Given the description of an element on the screen output the (x, y) to click on. 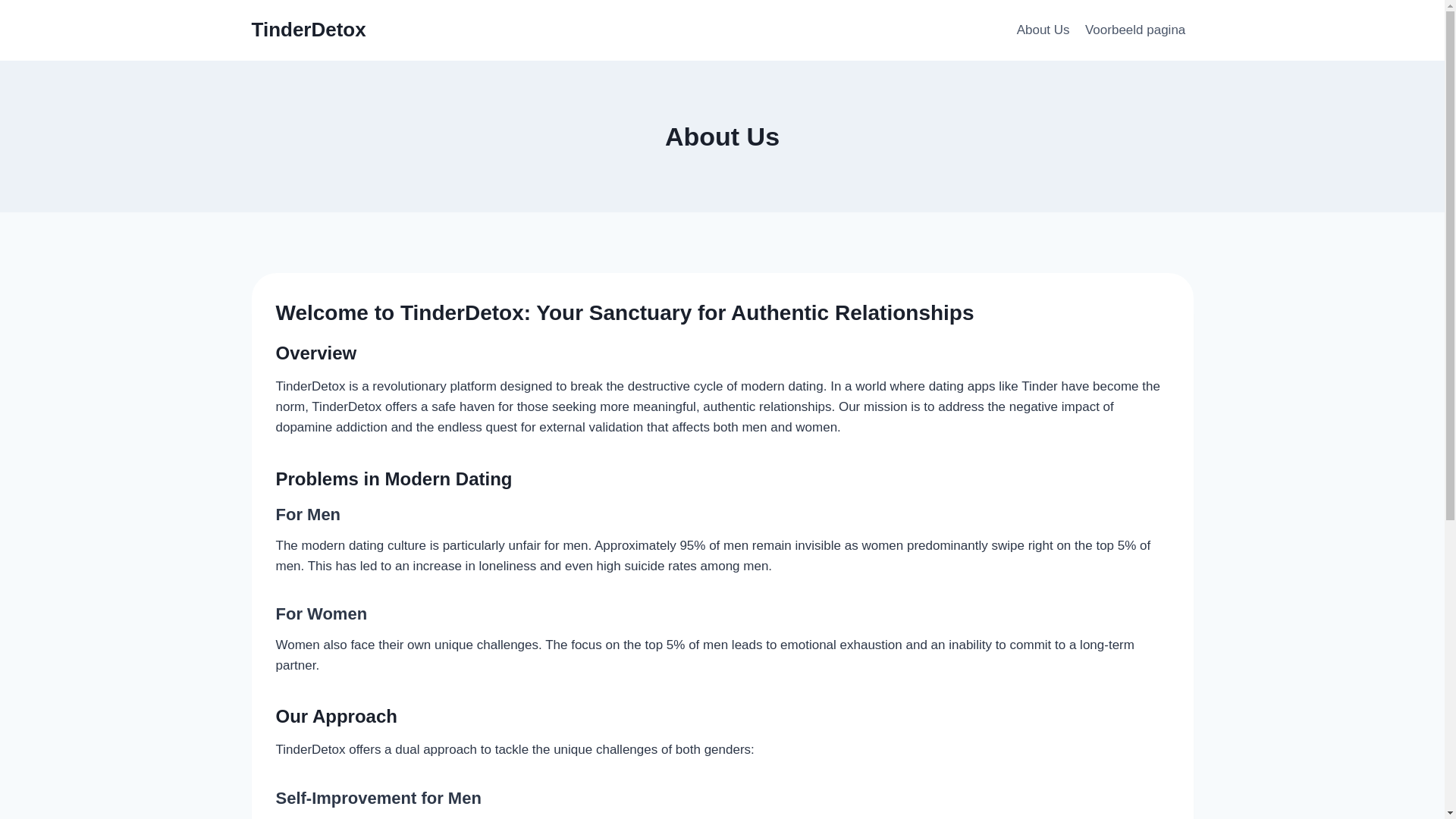
Voorbeeld pagina (1135, 30)
TinderDetox (308, 29)
About Us (1043, 30)
